Given the description of an element on the screen output the (x, y) to click on. 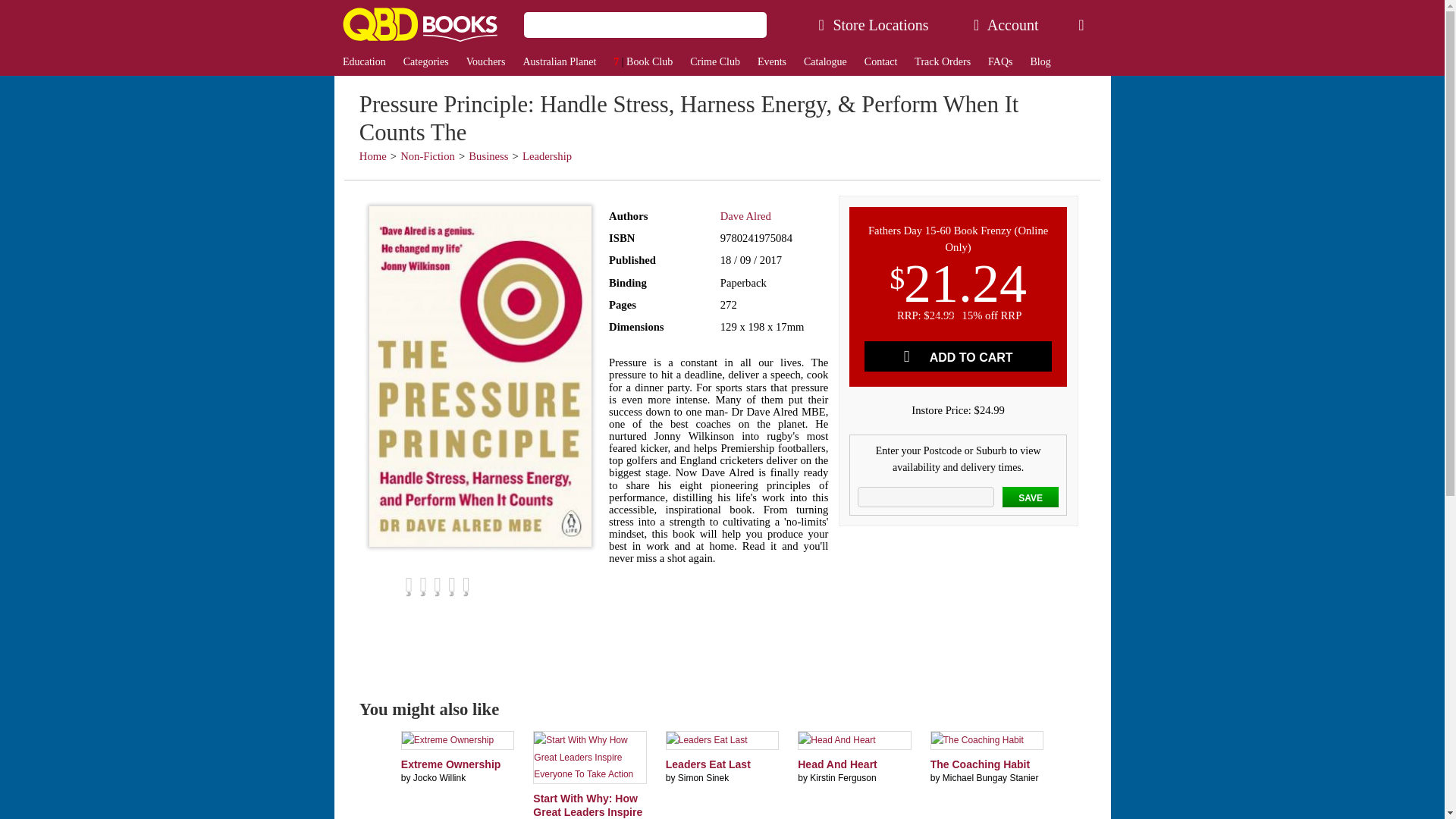
QBD Books (418, 23)
Store Locations (873, 24)
Kirstin Ferguson (842, 777)
Account (1006, 24)
Simon Sinek (703, 777)
Education (363, 62)
Categories (425, 62)
Jocko Willink (439, 777)
Leaders Eat Last (708, 764)
Extreme Ownership (450, 764)
